Given the description of an element on the screen output the (x, y) to click on. 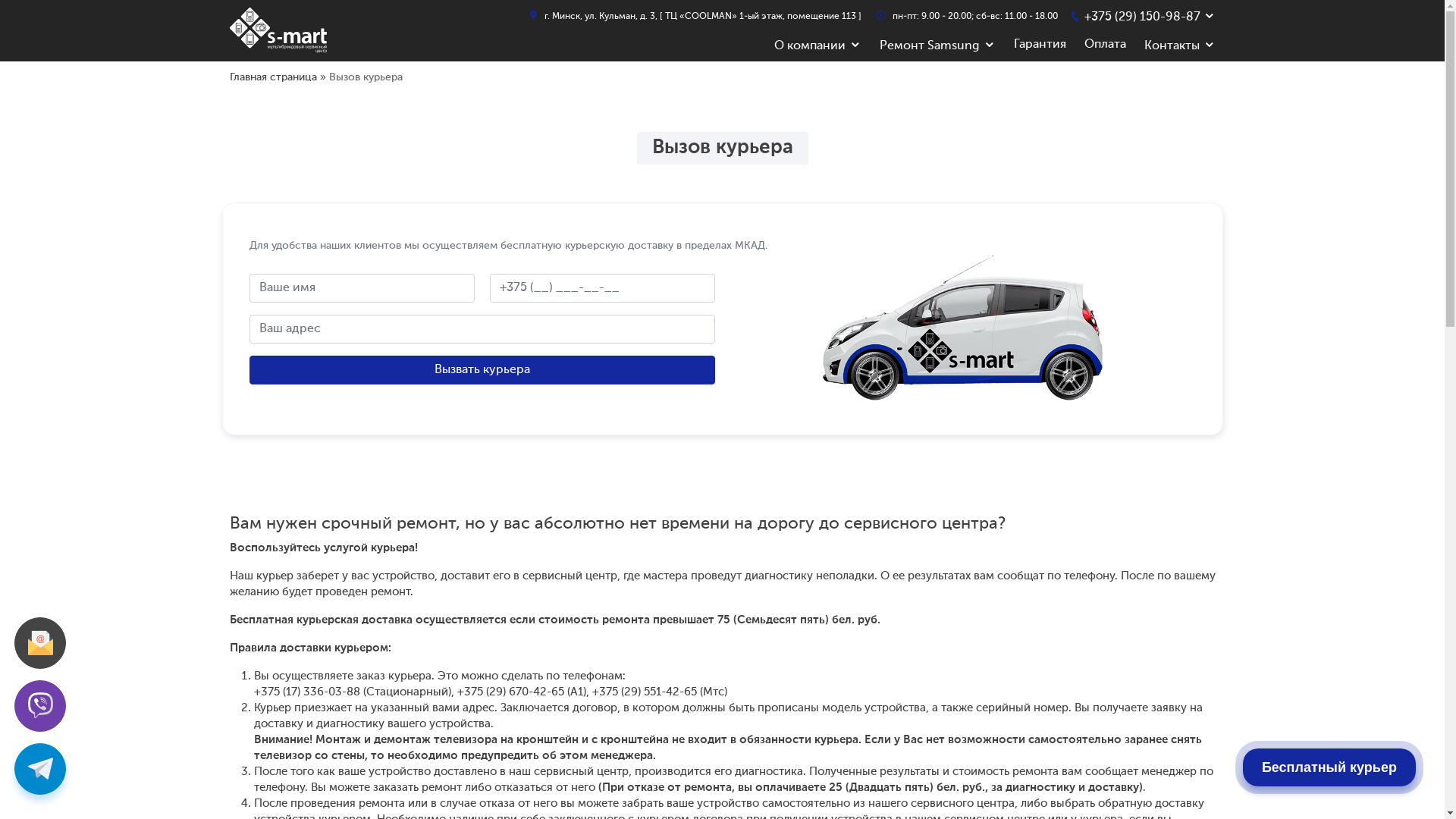
+375 (29) 150-98-87 Element type: text (1142, 17)
